Given the description of an element on the screen output the (x, y) to click on. 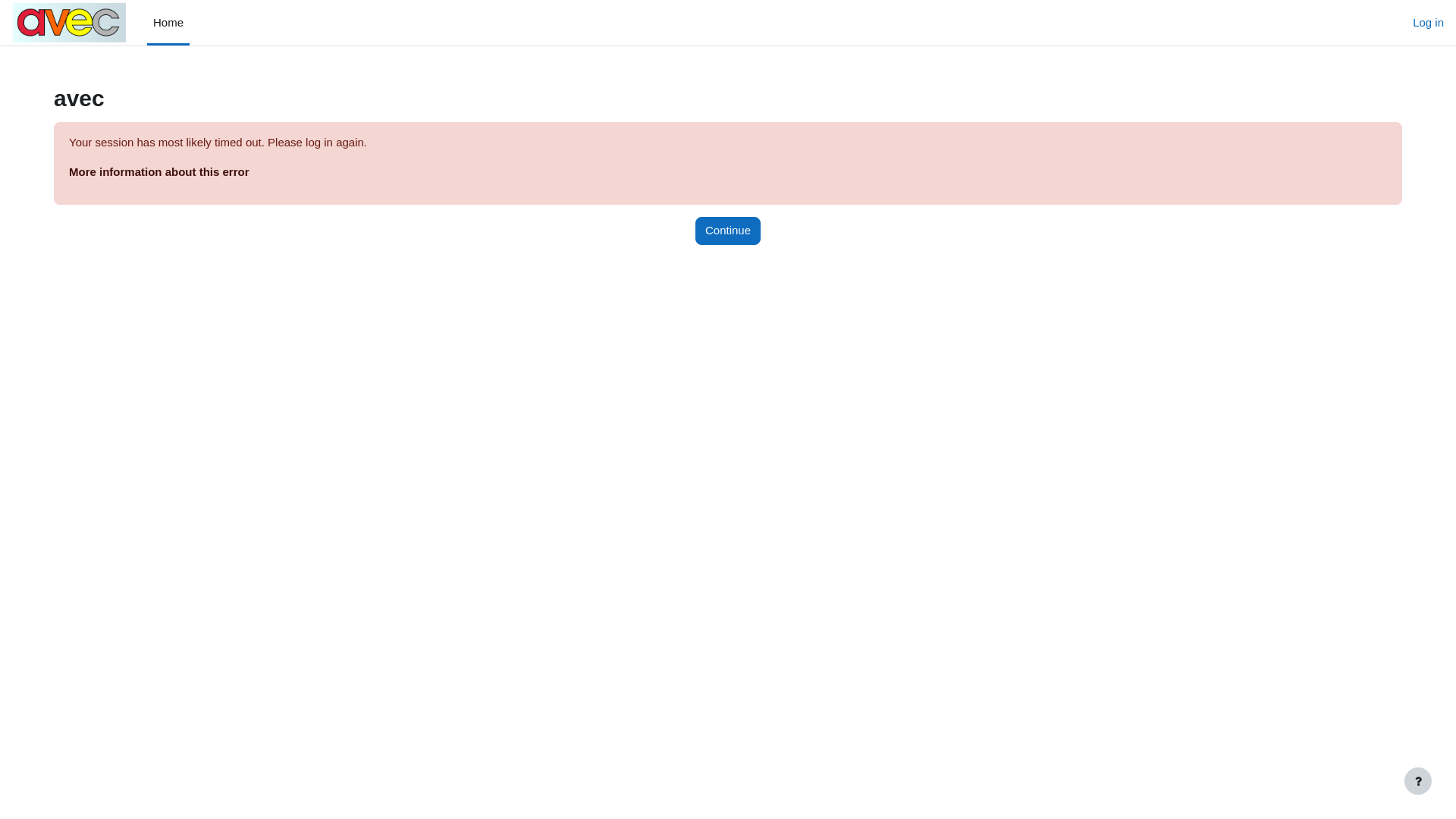
Continue Element type: text (727, 230)
Log in Element type: text (1427, 22)
More information about this error Element type: text (159, 171)
Home Element type: text (168, 22)
